Given the description of an element on the screen output the (x, y) to click on. 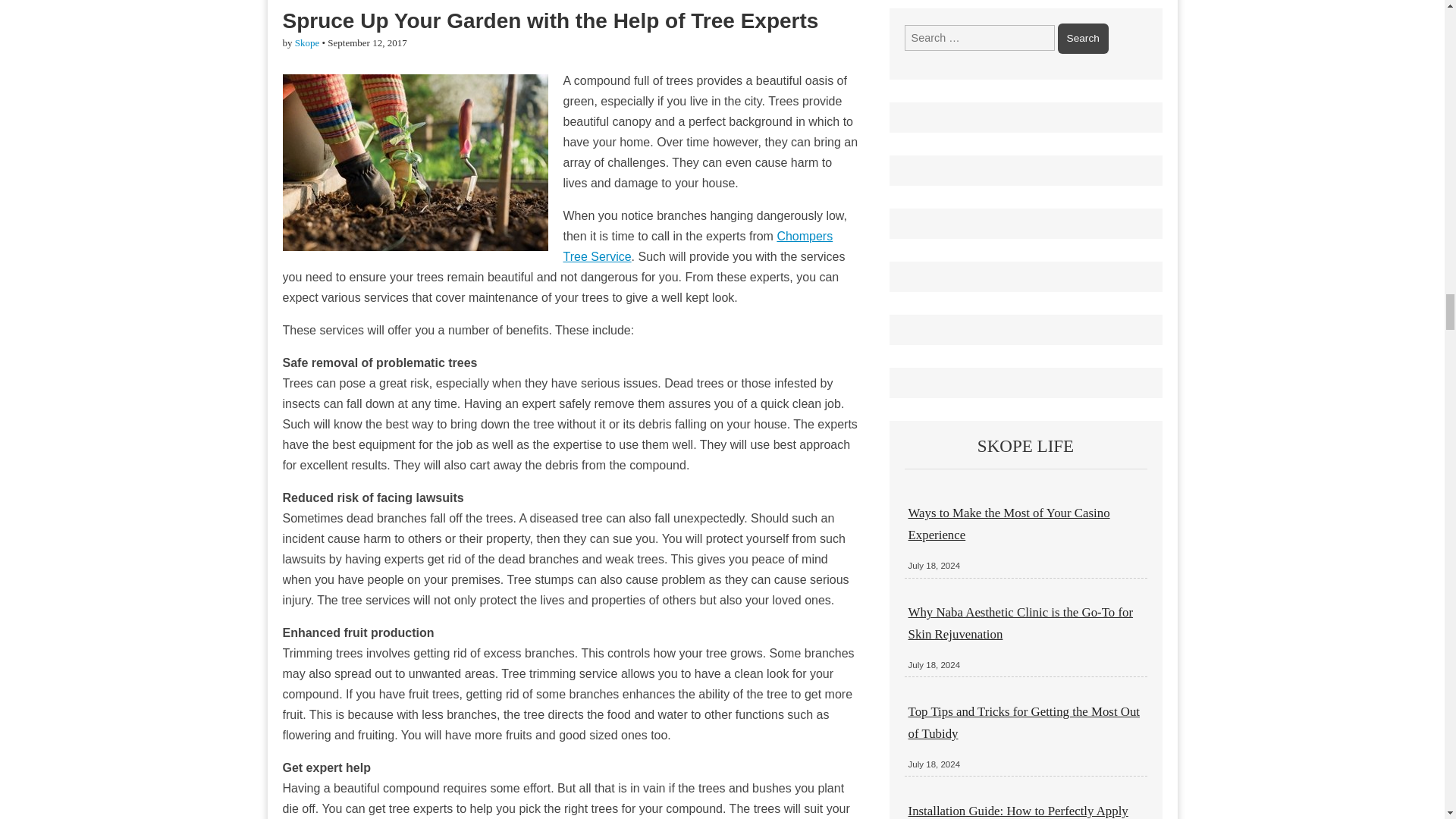
Skope (307, 42)
Search (1083, 38)
Search (1083, 38)
Why Naba Aesthetic Clinic is the Go-To for Skin Rejuvenation (1021, 622)
Top Tips and Tricks for Getting the Most Out of Tubidy (1024, 722)
Chompers Tree Service (697, 246)
Search (1083, 38)
Ways to Make the Most of Your Casino Experience (1008, 523)
Posts by Skope (307, 42)
